Given the description of an element on the screen output the (x, y) to click on. 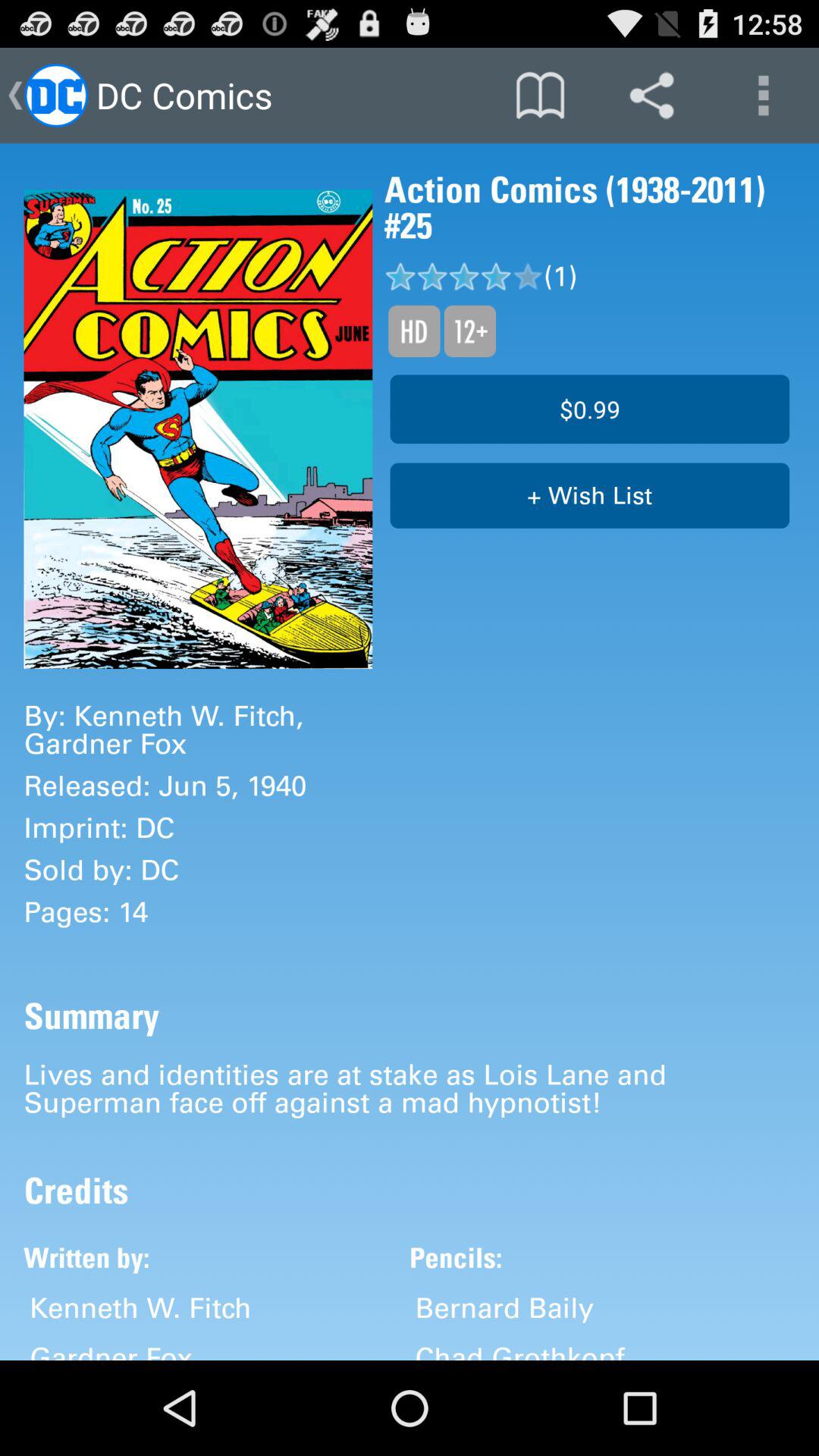
open the + wish list on the right (589, 495)
